Given the description of an element on the screen output the (x, y) to click on. 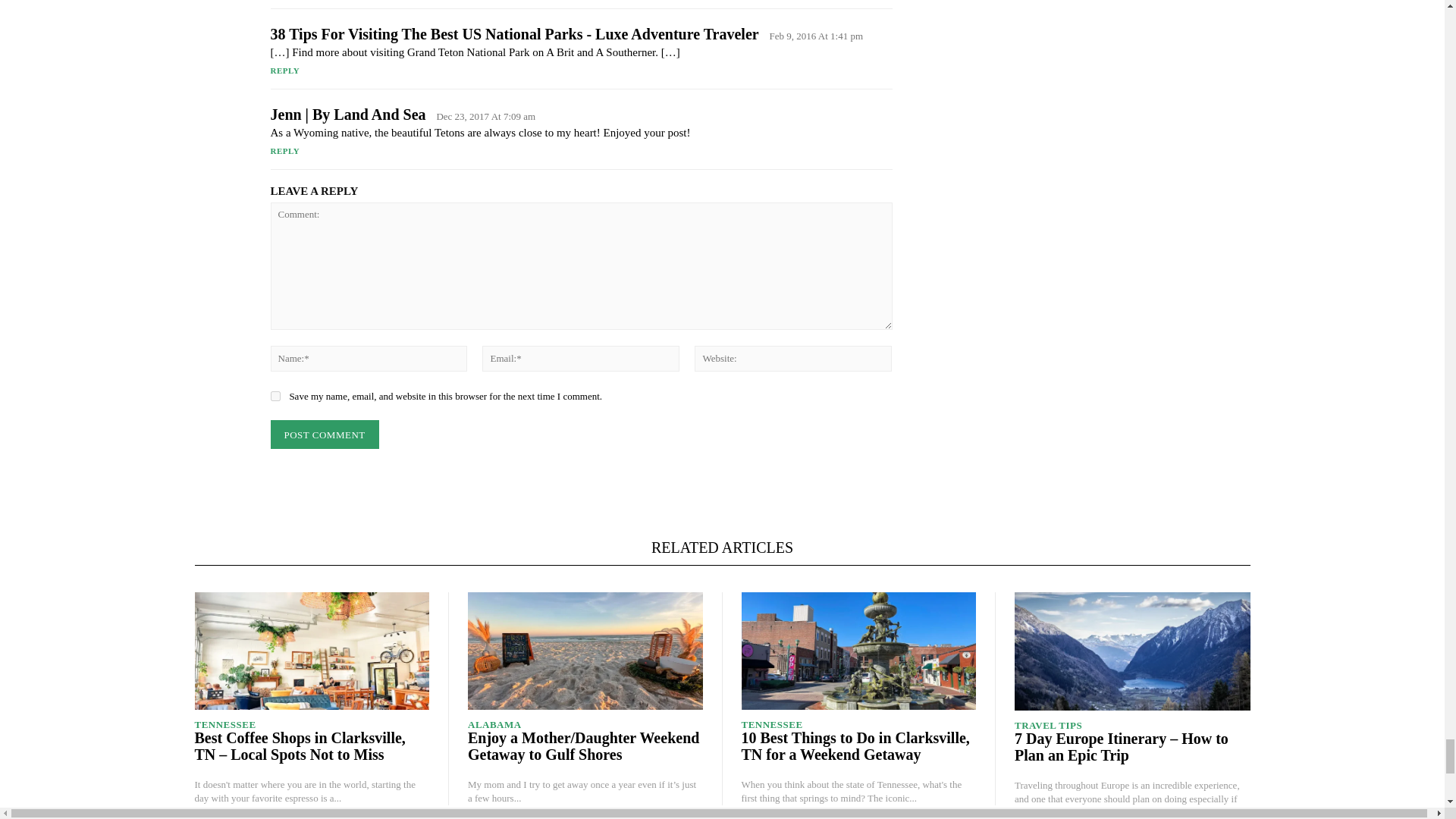
yes (274, 396)
Post Comment (323, 434)
